Given the description of an element on the screen output the (x, y) to click on. 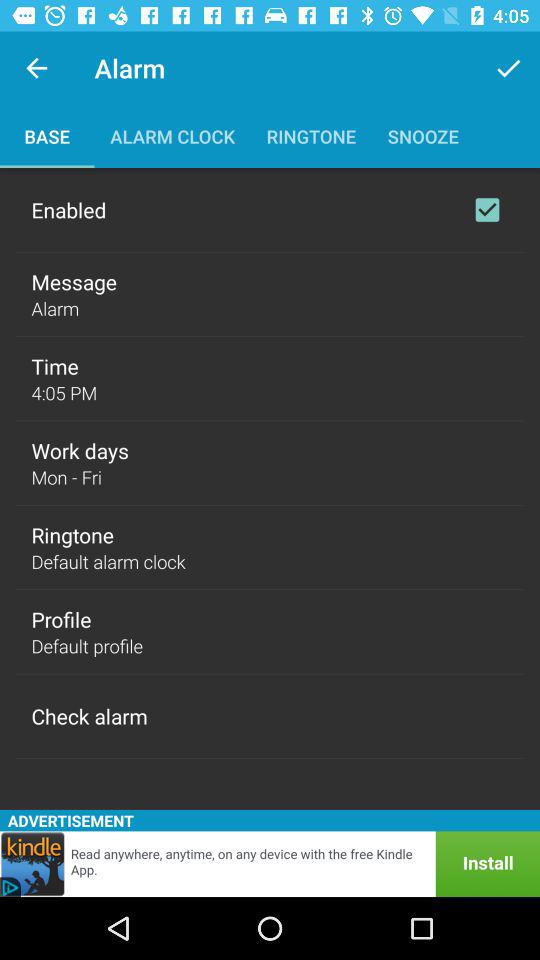
install app kindle (270, 864)
